Given the description of an element on the screen output the (x, y) to click on. 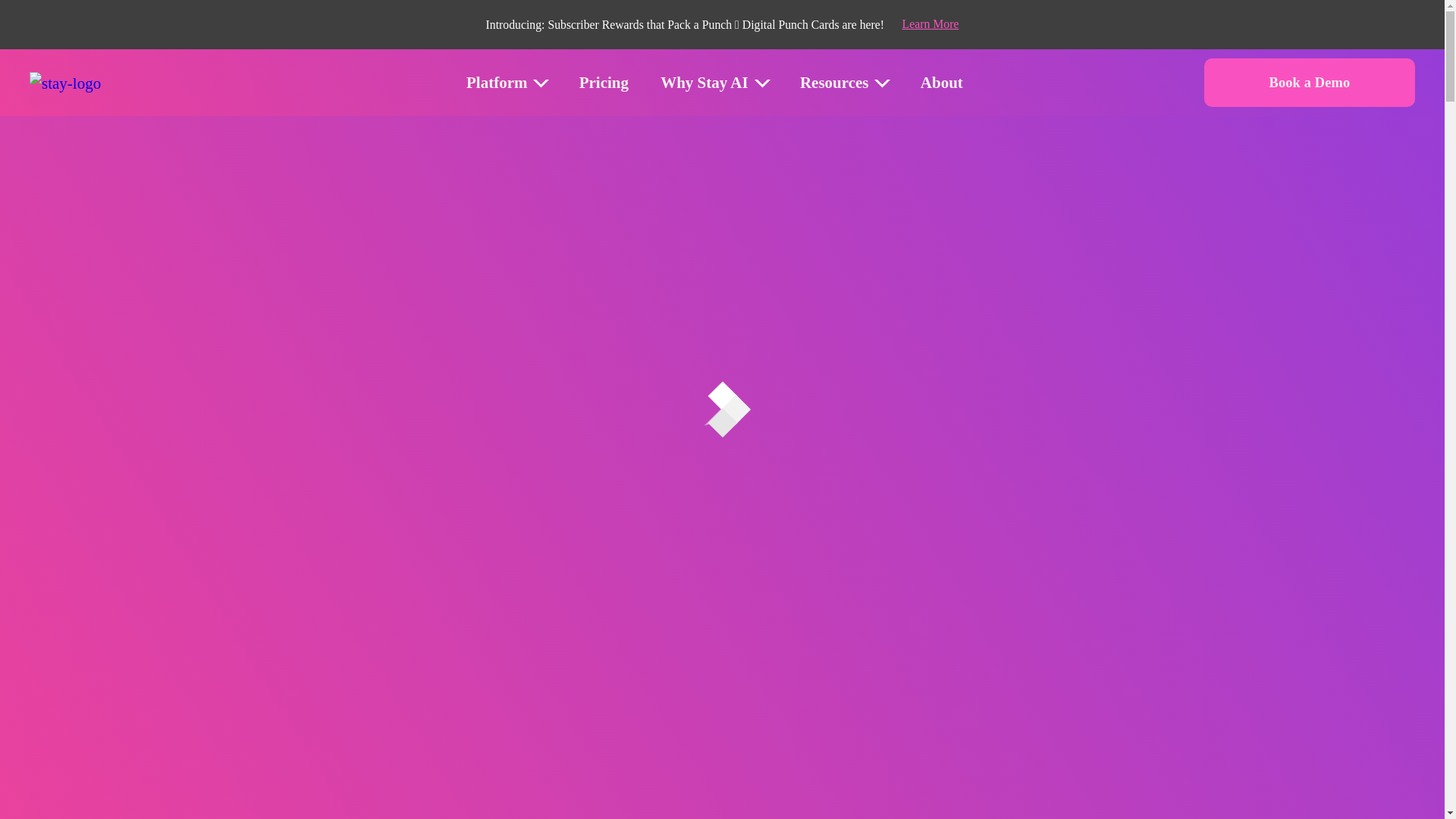
stay-logo (64, 83)
Learn More (930, 23)
Pricing (603, 82)
Why Stay AI (704, 82)
Resources (834, 82)
Platform (496, 82)
